Given the description of an element on the screen output the (x, y) to click on. 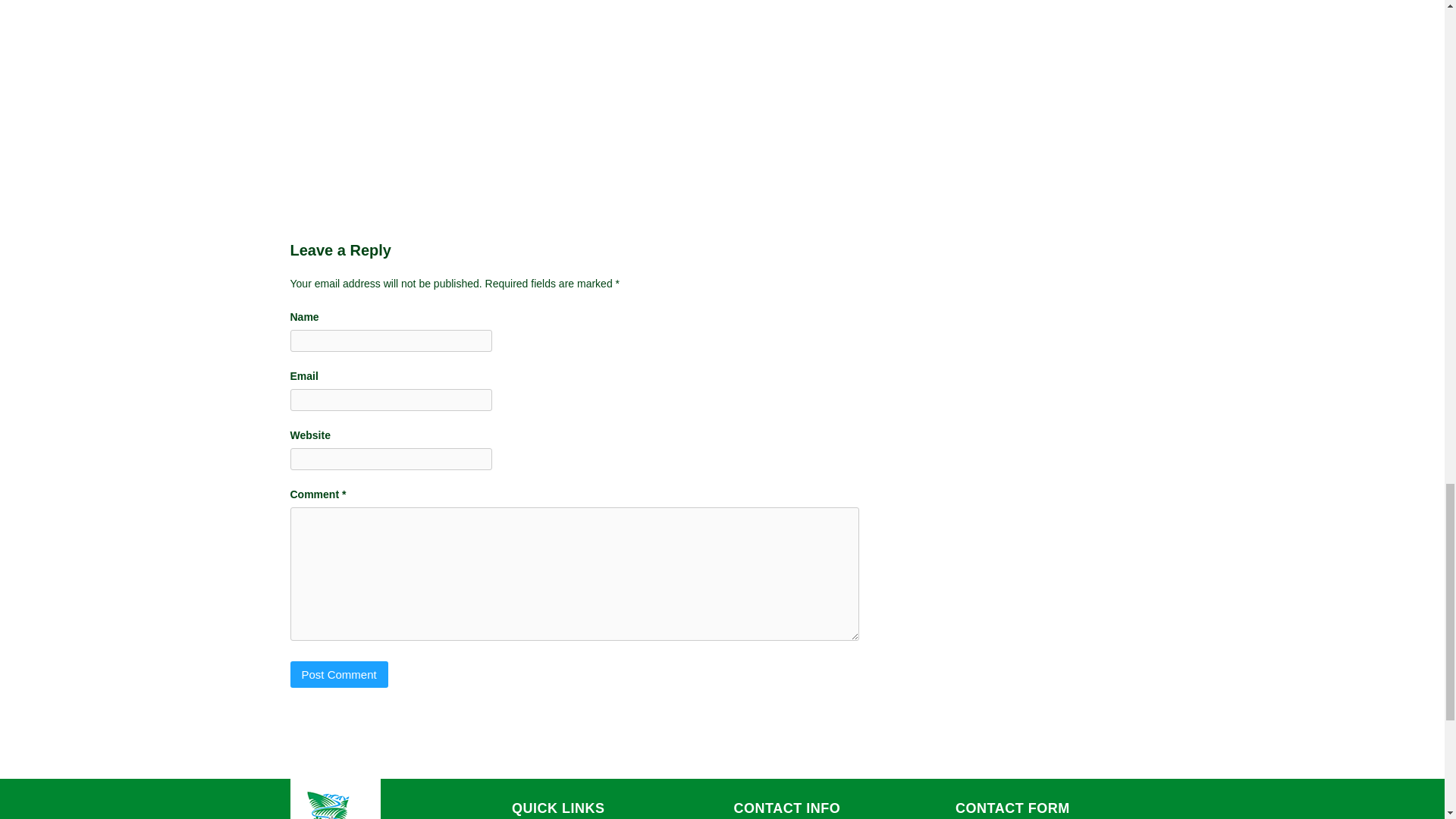
Post Comment (338, 673)
Post Comment (338, 673)
